Given the description of an element on the screen output the (x, y) to click on. 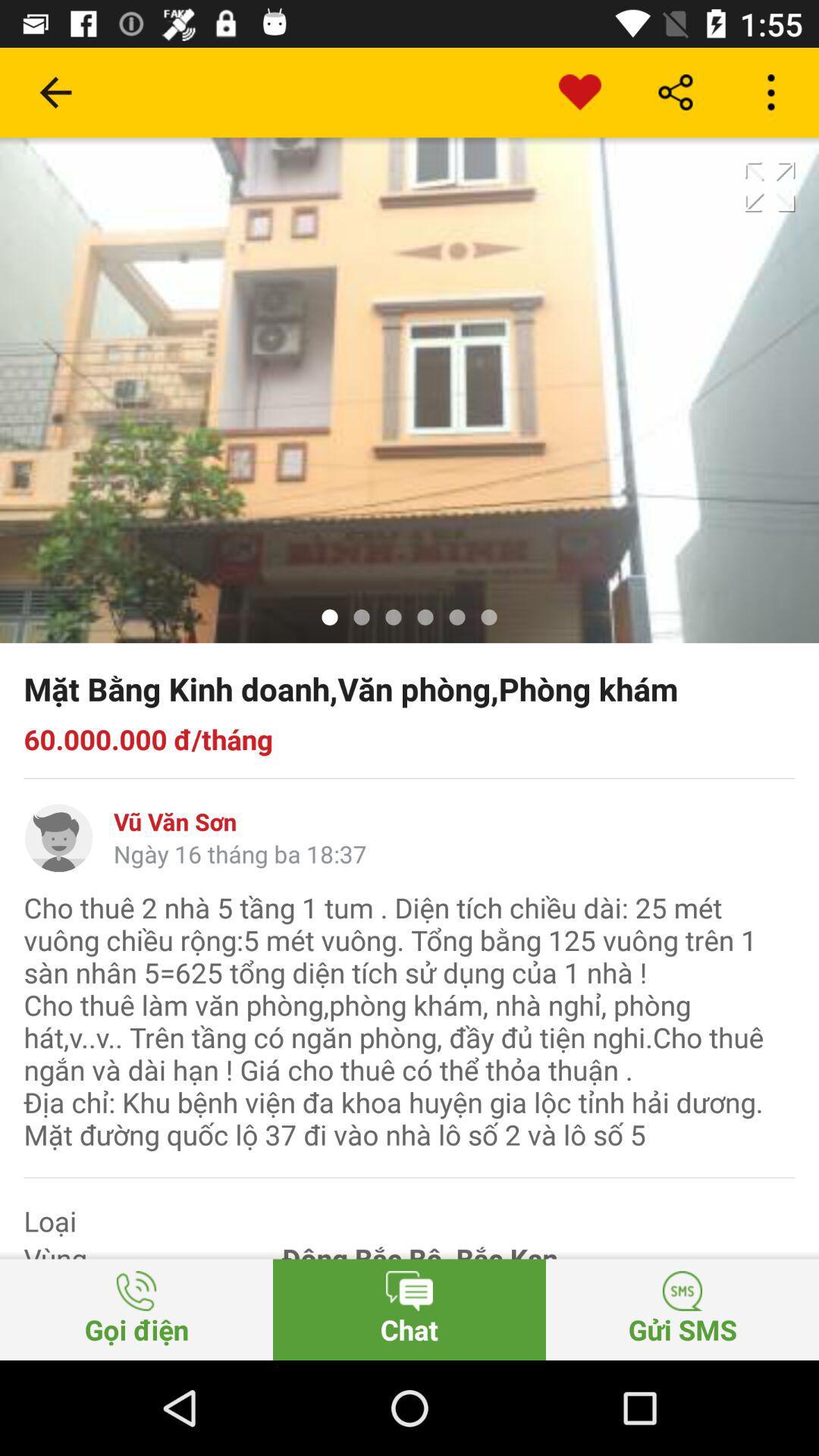
turn off item to the left of chat (136, 1309)
